Given the description of an element on the screen output the (x, y) to click on. 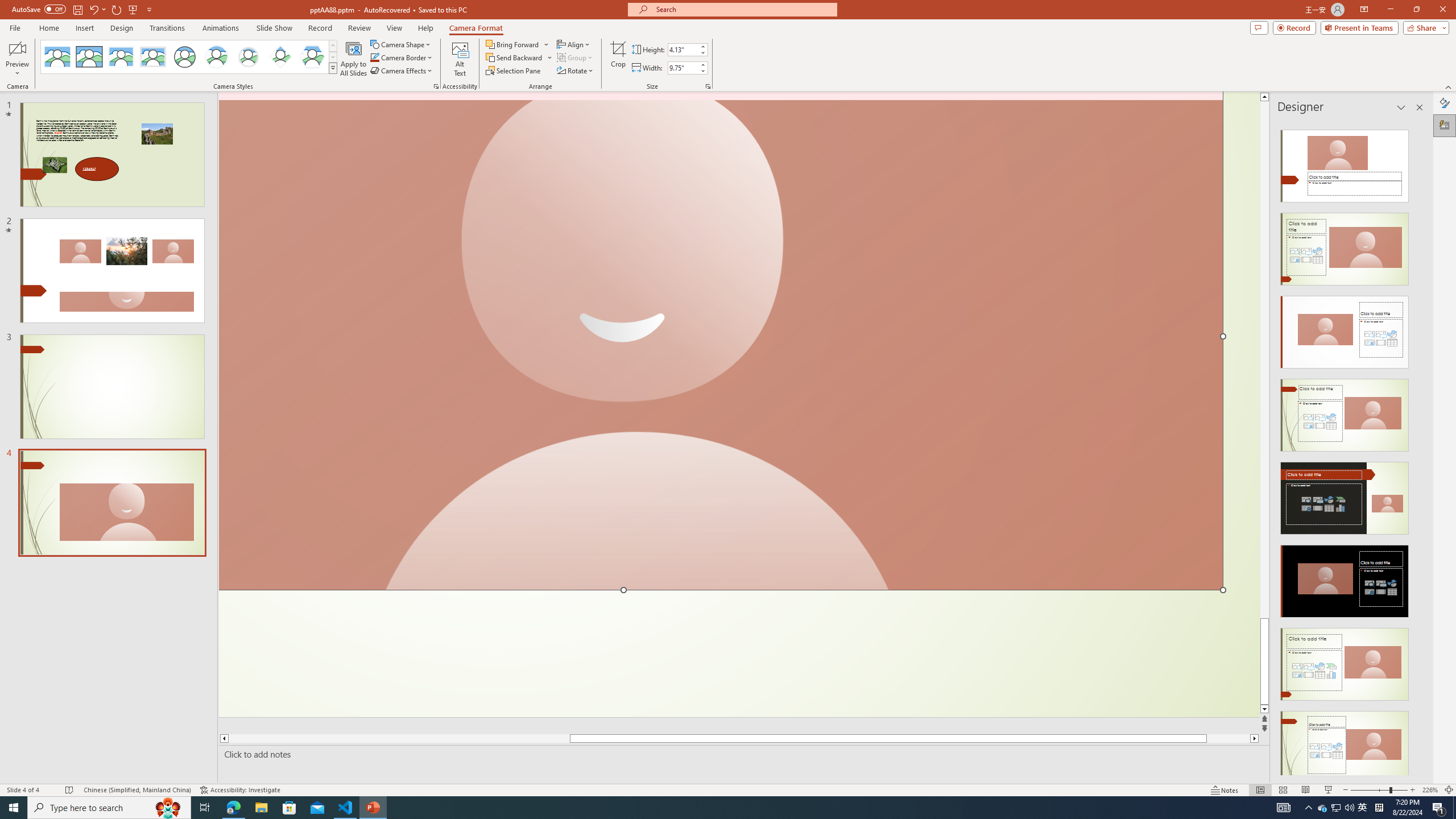
Camera Styles (333, 67)
No Style (57, 56)
Class: NetUIScrollBar (1418, 447)
Center Shadow Hexagon (312, 56)
